Given the description of an element on the screen output the (x, y) to click on. 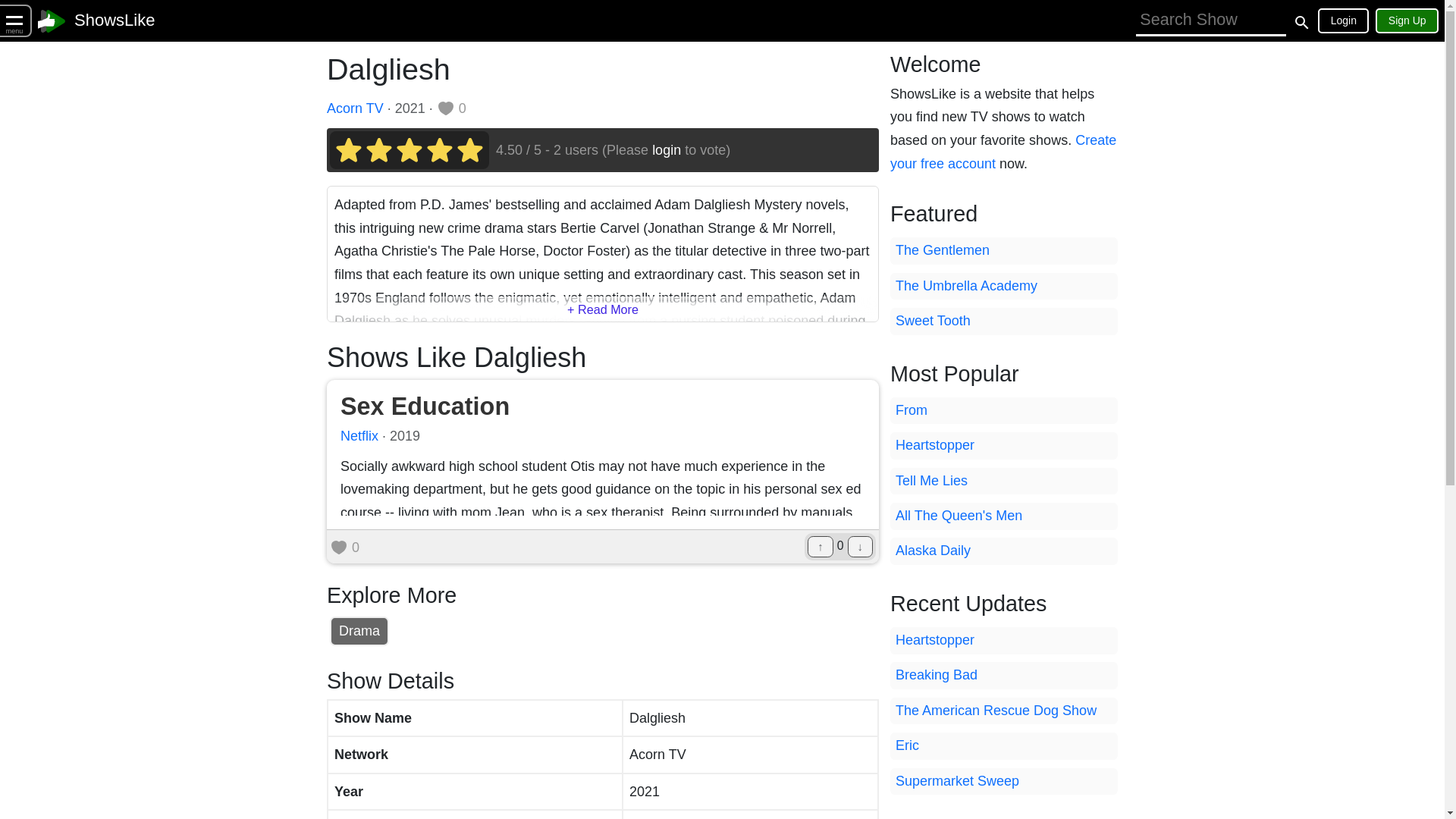
Find Your Next Binge! (114, 20)
Please login to vote (379, 150)
Please login to vote (409, 150)
ShowsLike (114, 20)
Please login to vote (469, 150)
Please login to vote (439, 150)
Please login to vote (348, 150)
